Given the description of an element on the screen output the (x, y) to click on. 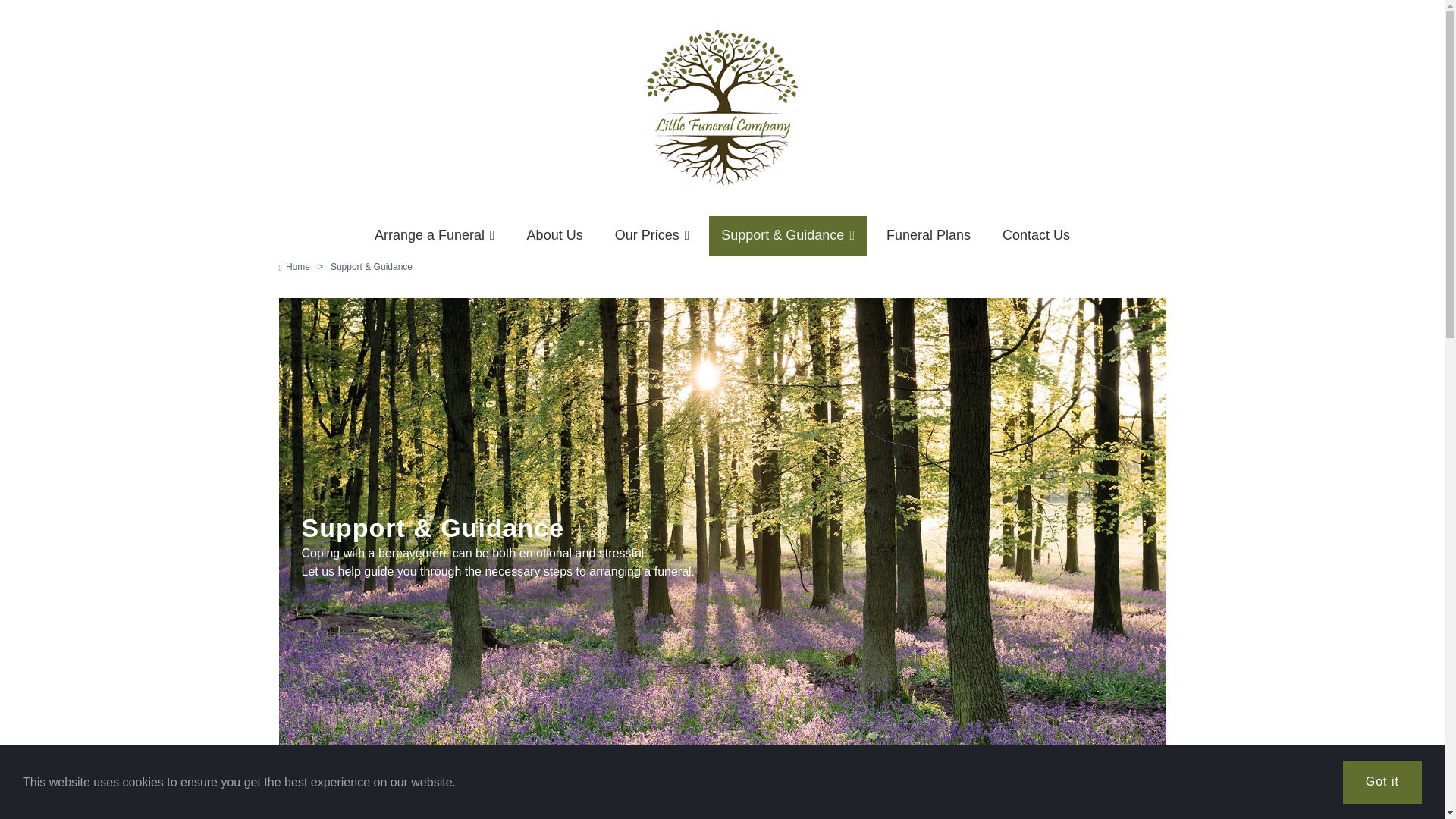
Funeral Plans (928, 235)
Arrange a Funeral (434, 235)
Home (294, 267)
Our Prices (651, 235)
Contact Us (1035, 235)
About Us (555, 235)
